Given the description of an element on the screen output the (x, y) to click on. 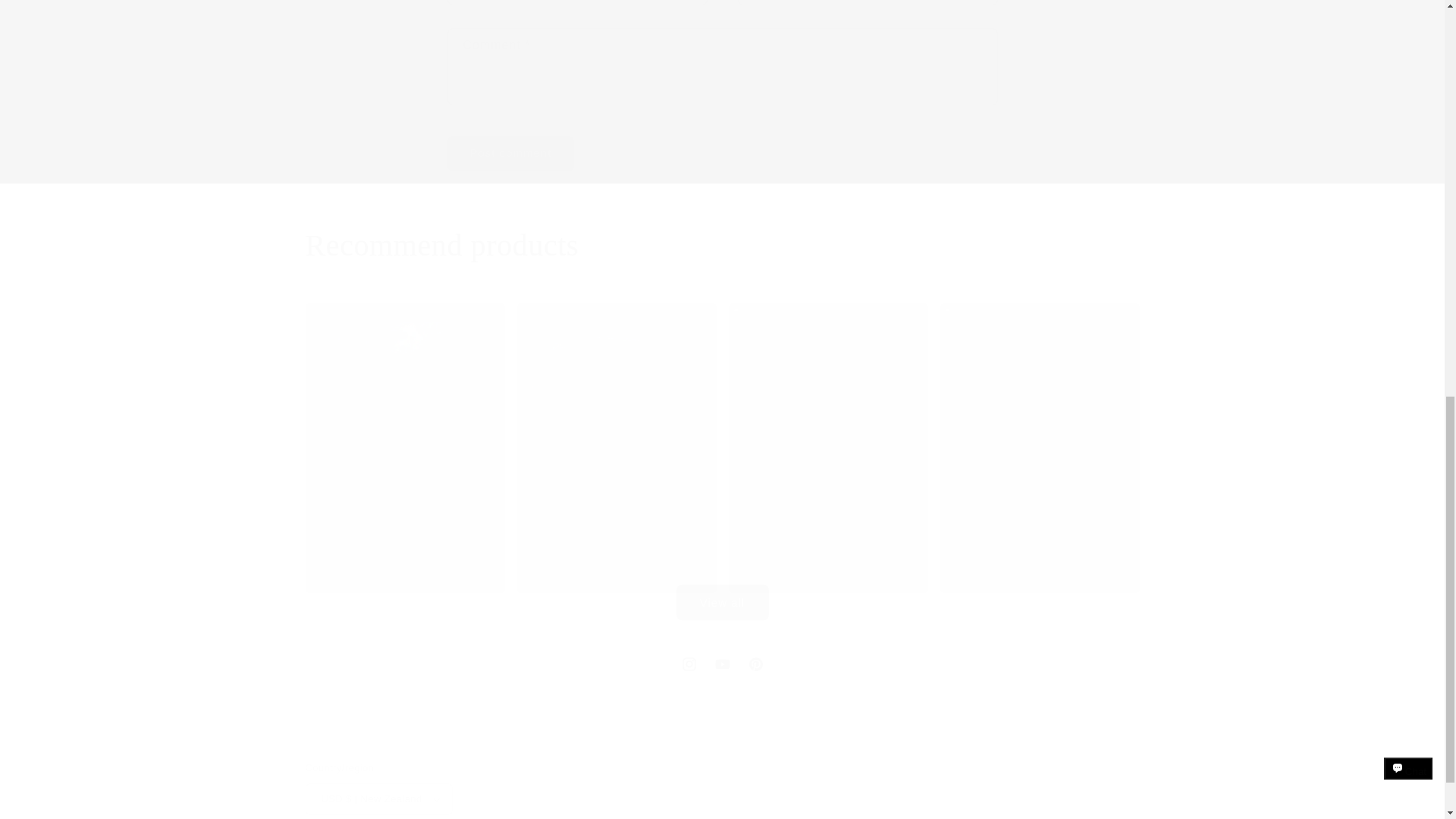
Recommend products (721, 663)
Post comment (721, 245)
